Given the description of an element on the screen output the (x, y) to click on. 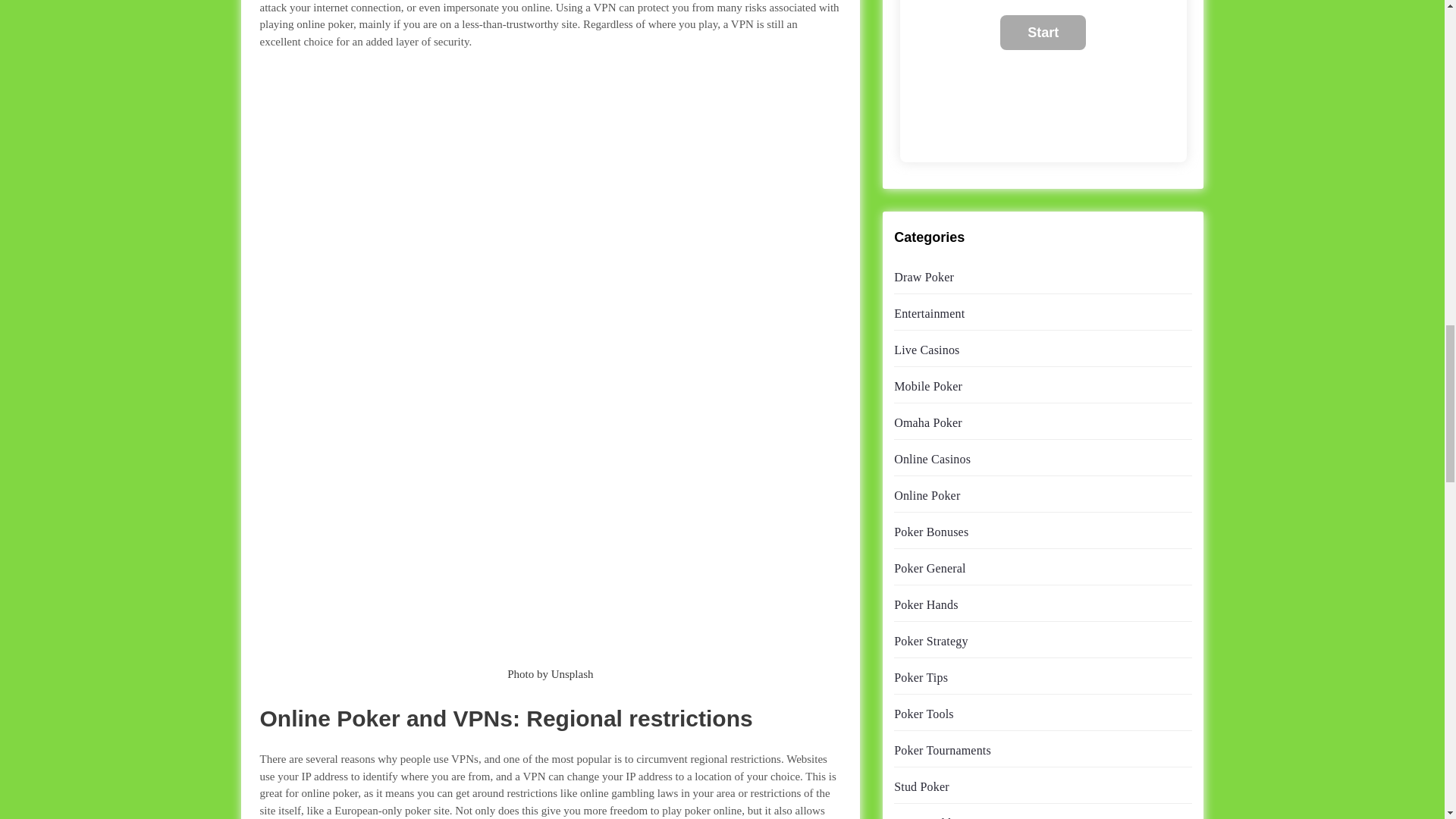
Start (1043, 32)
